Given the description of an element on the screen output the (x, y) to click on. 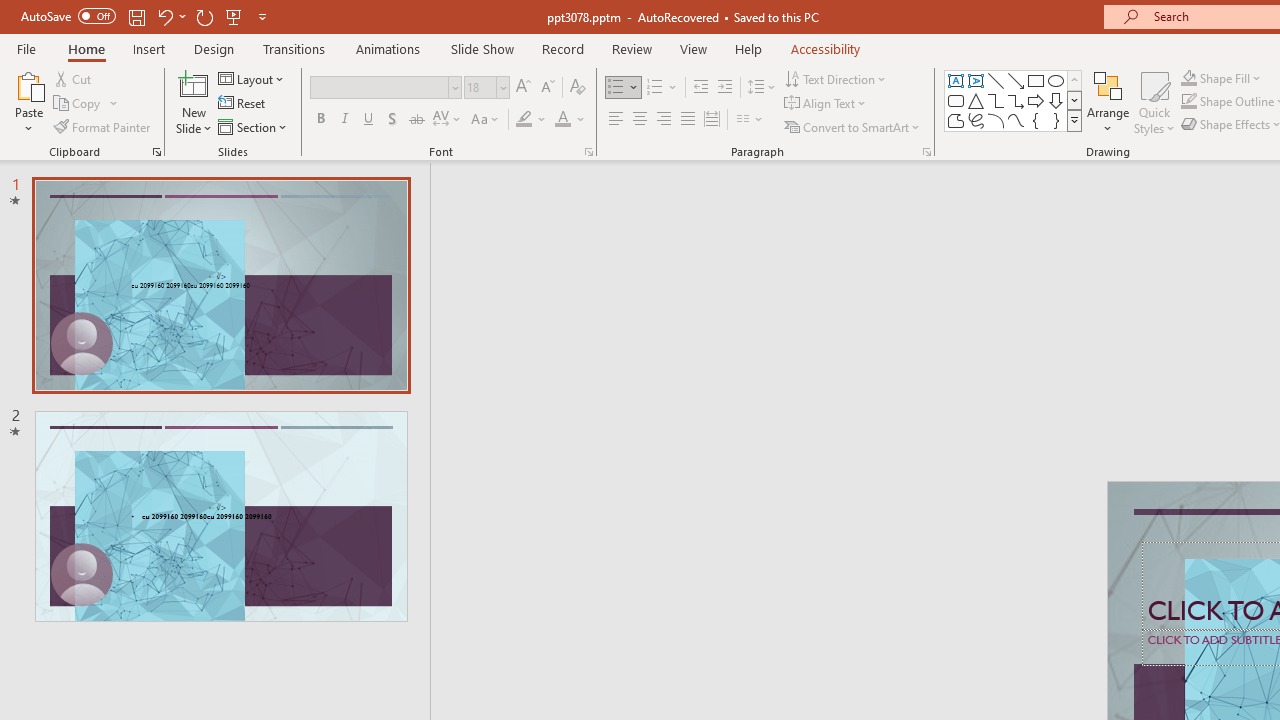
Connector: Elbow Arrow (1016, 100)
Decrease Indent (700, 87)
Arc (995, 120)
Bullets (623, 87)
Numbering (661, 87)
Copy (85, 103)
Font (379, 87)
Arrow: Right (1035, 100)
Text Box (955, 80)
